Given the description of an element on the screen output the (x, y) to click on. 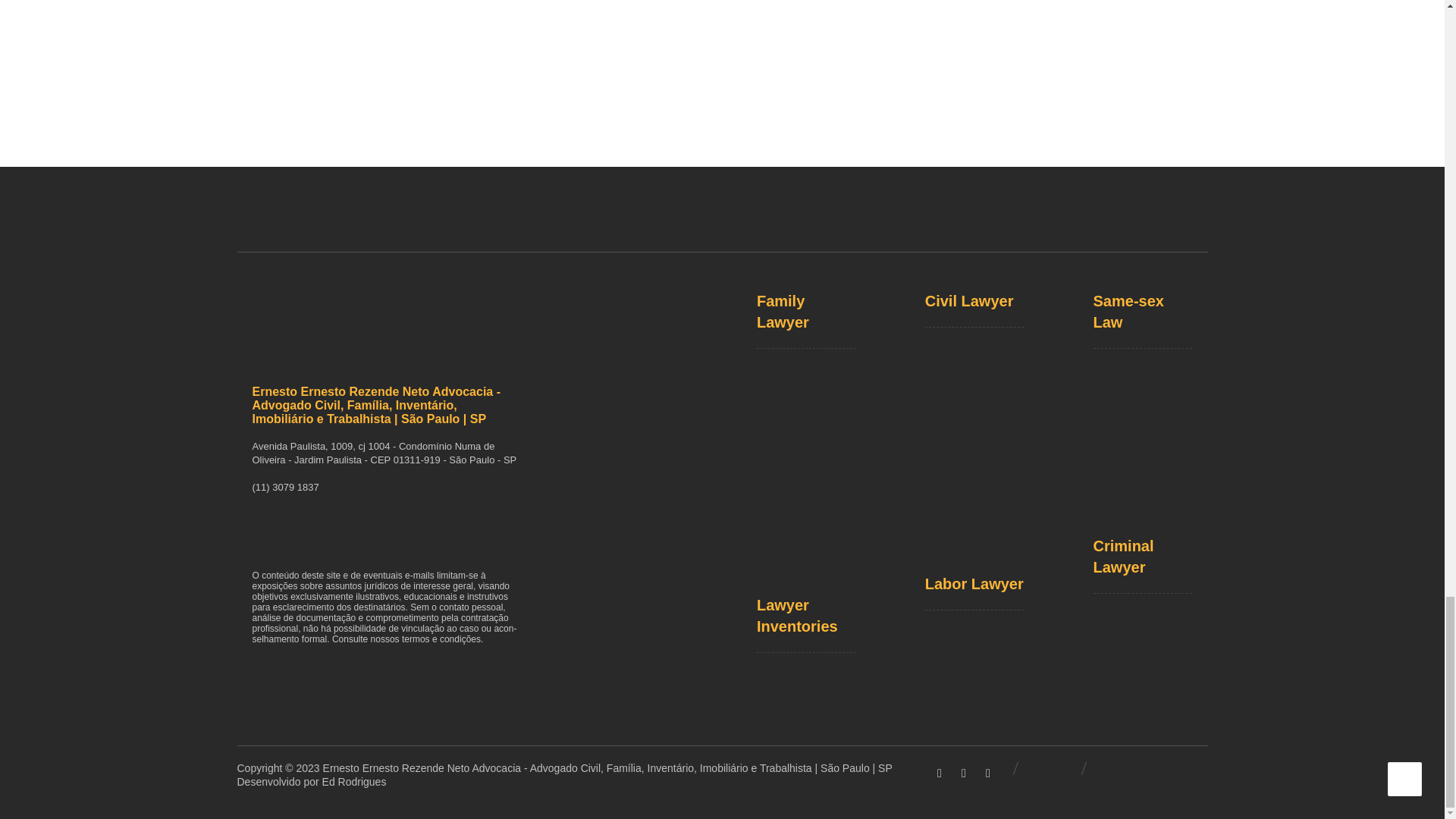
Instagram (987, 773)
Imprensa (721, 53)
Linkedin (963, 773)
Facebook (939, 773)
